Given the description of an element on the screen output the (x, y) to click on. 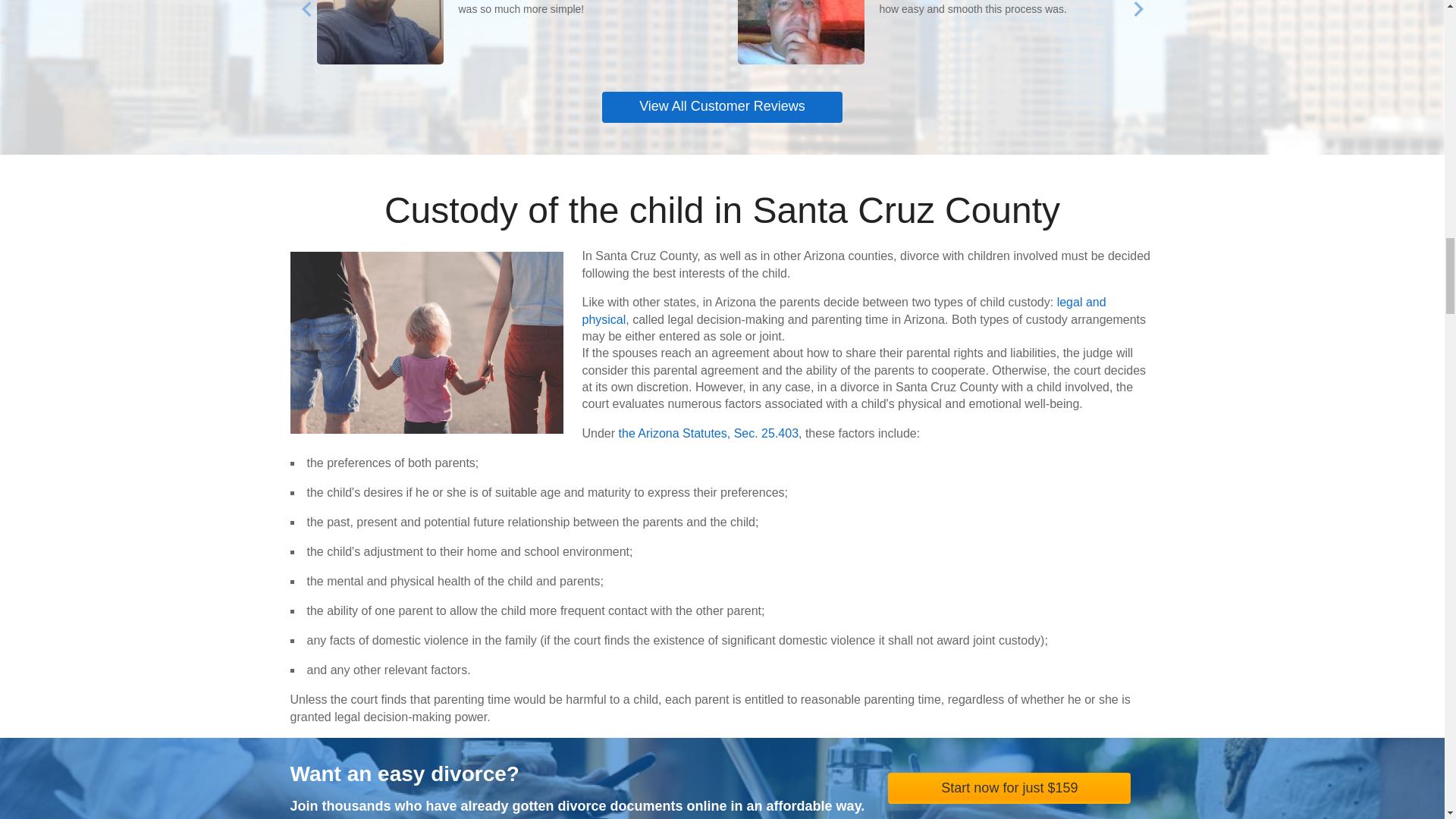
View All Customer Reviews (722, 106)
legal and physical (844, 310)
the Arizona Statutes, Sec. 25.403 (708, 432)
